Given the description of an element on the screen output the (x, y) to click on. 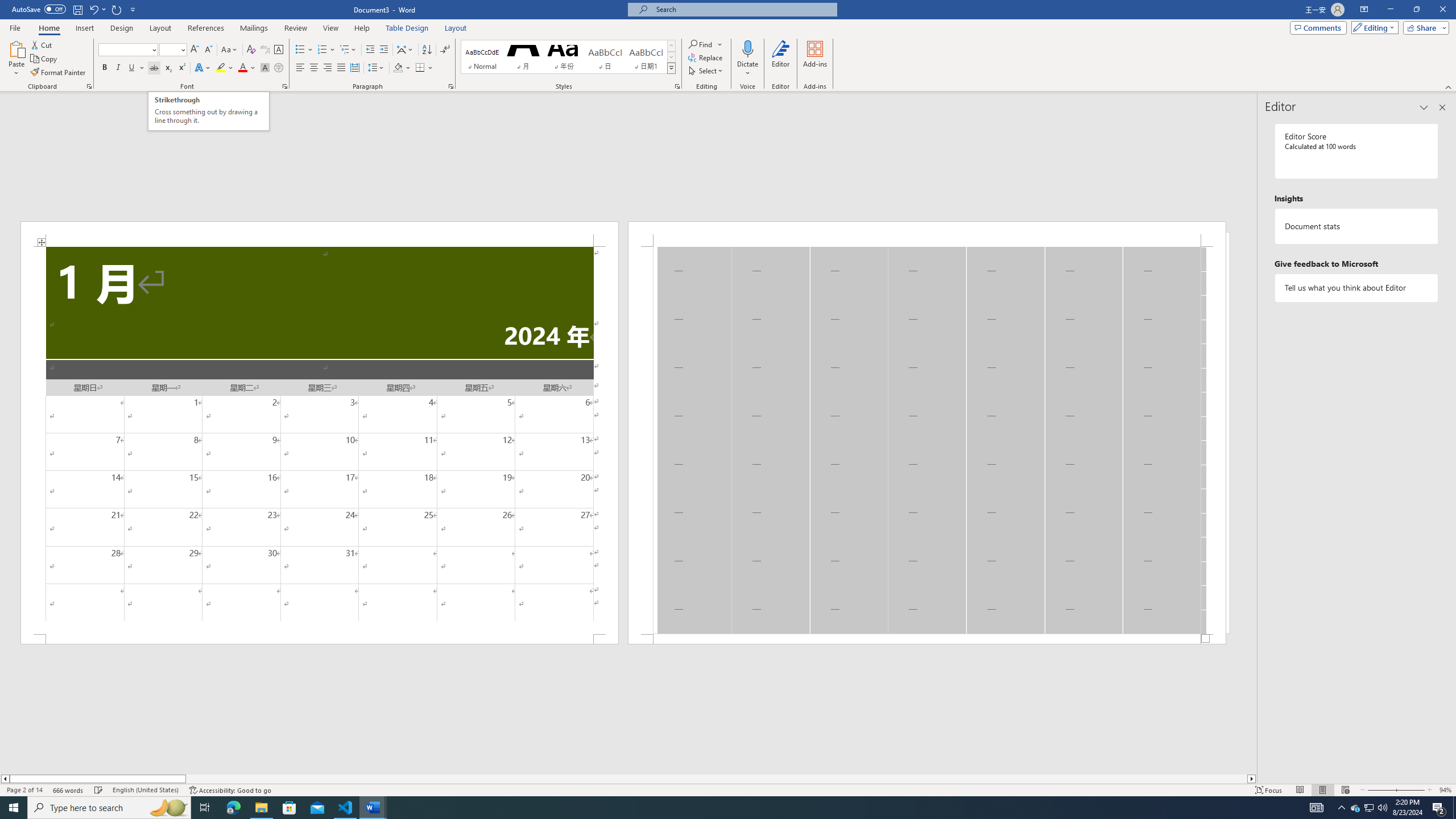
Page right (716, 778)
